Given the description of an element on the screen output the (x, y) to click on. 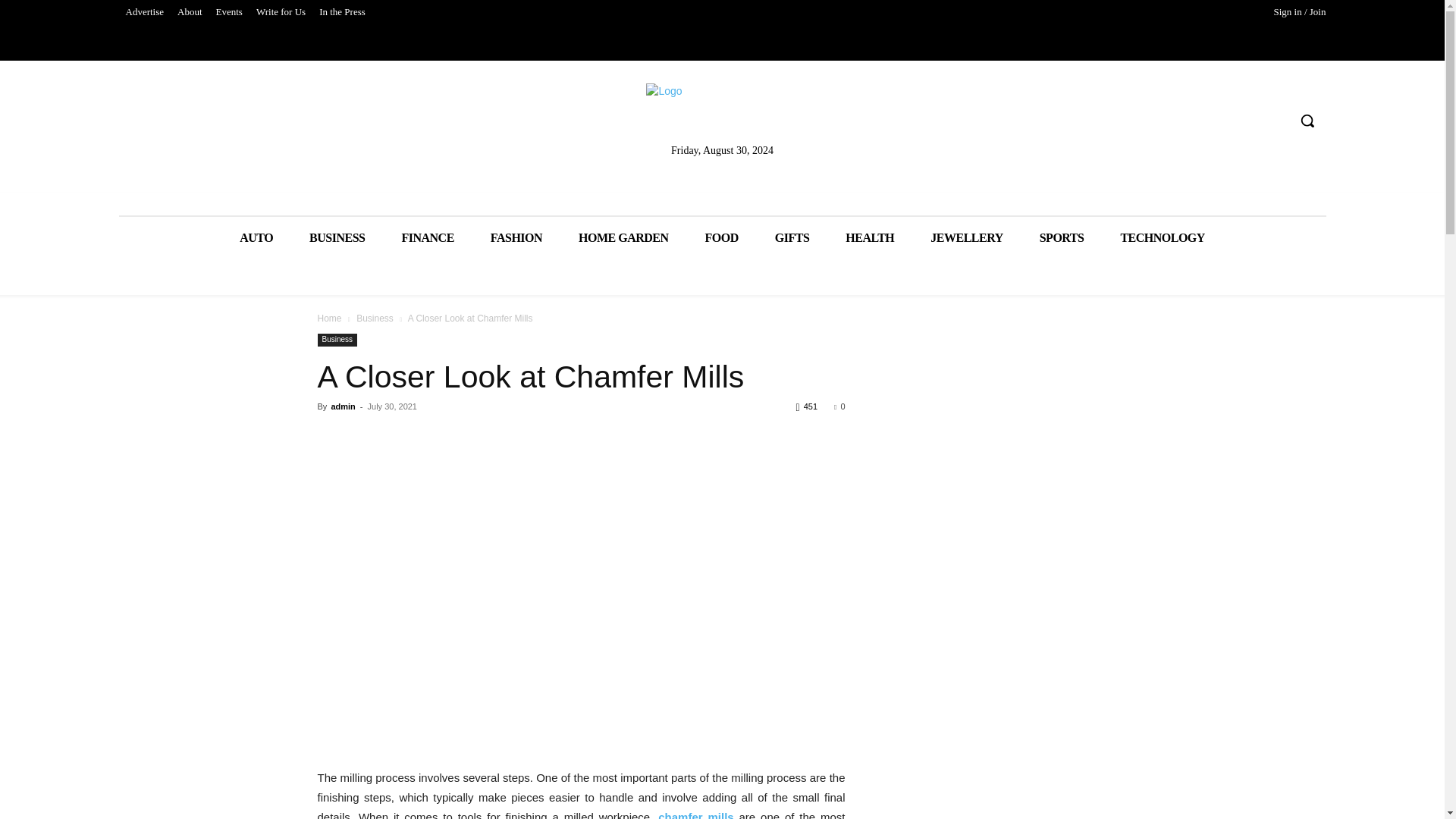
In the Press (342, 12)
About (189, 12)
Write for Us (280, 12)
SPORTS (1062, 237)
GIFTS (792, 237)
FOOD (722, 237)
View all posts in Business (374, 317)
FASHION (515, 237)
Events (228, 12)
TECHNOLOGY (1162, 237)
